Given the description of an element on the screen output the (x, y) to click on. 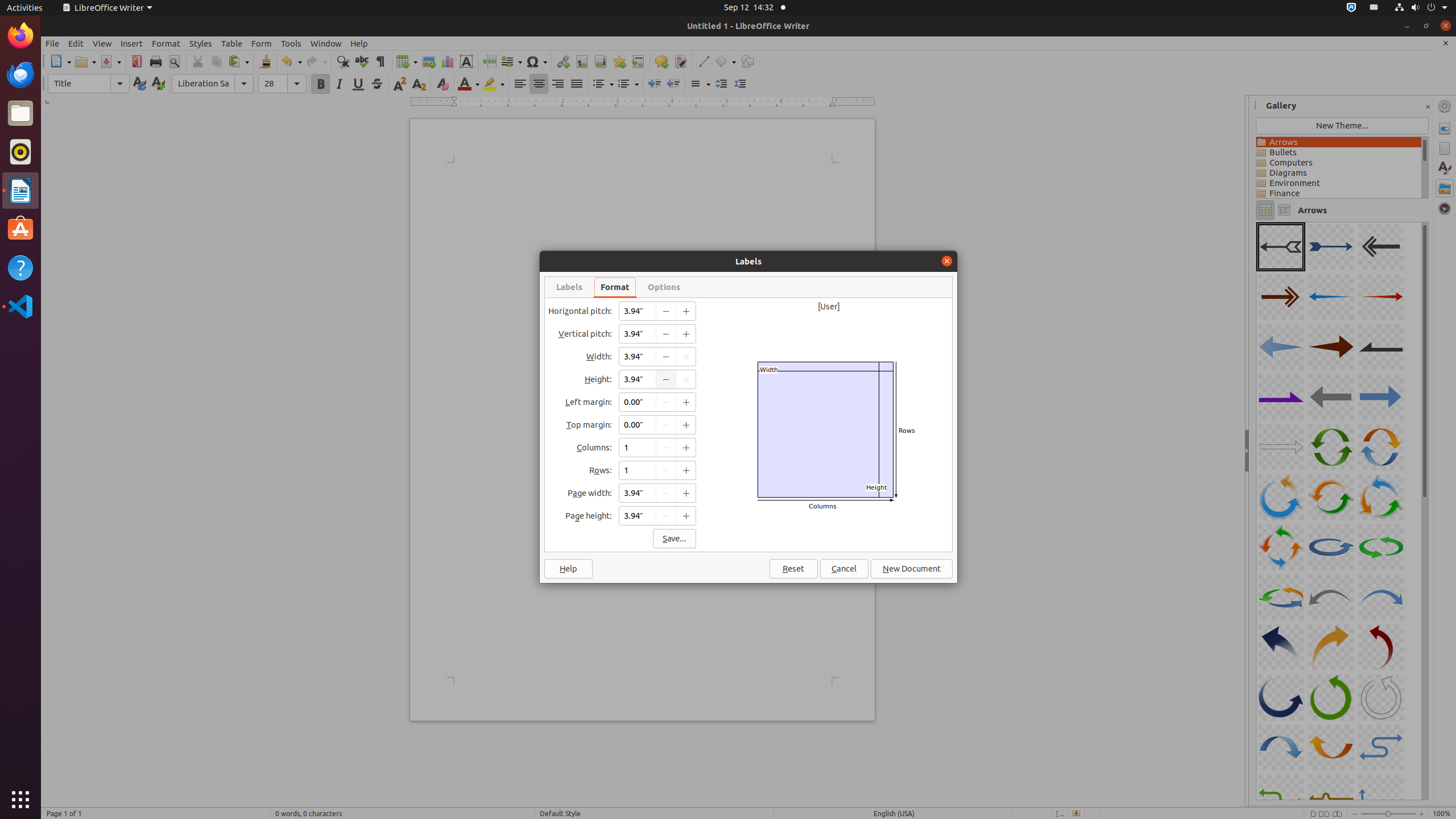
Thunderbird Mail Element type: push-button (20, 74)
Visual Studio Code Element type: push-button (20, 306)
Ubuntu Software Element type: push-button (20, 229)
LibreOffice Writer Element type: push-button (20, 190)
LibreOffice Writer Element type: menu (106, 7)
